Given the description of an element on the screen output the (x, y) to click on. 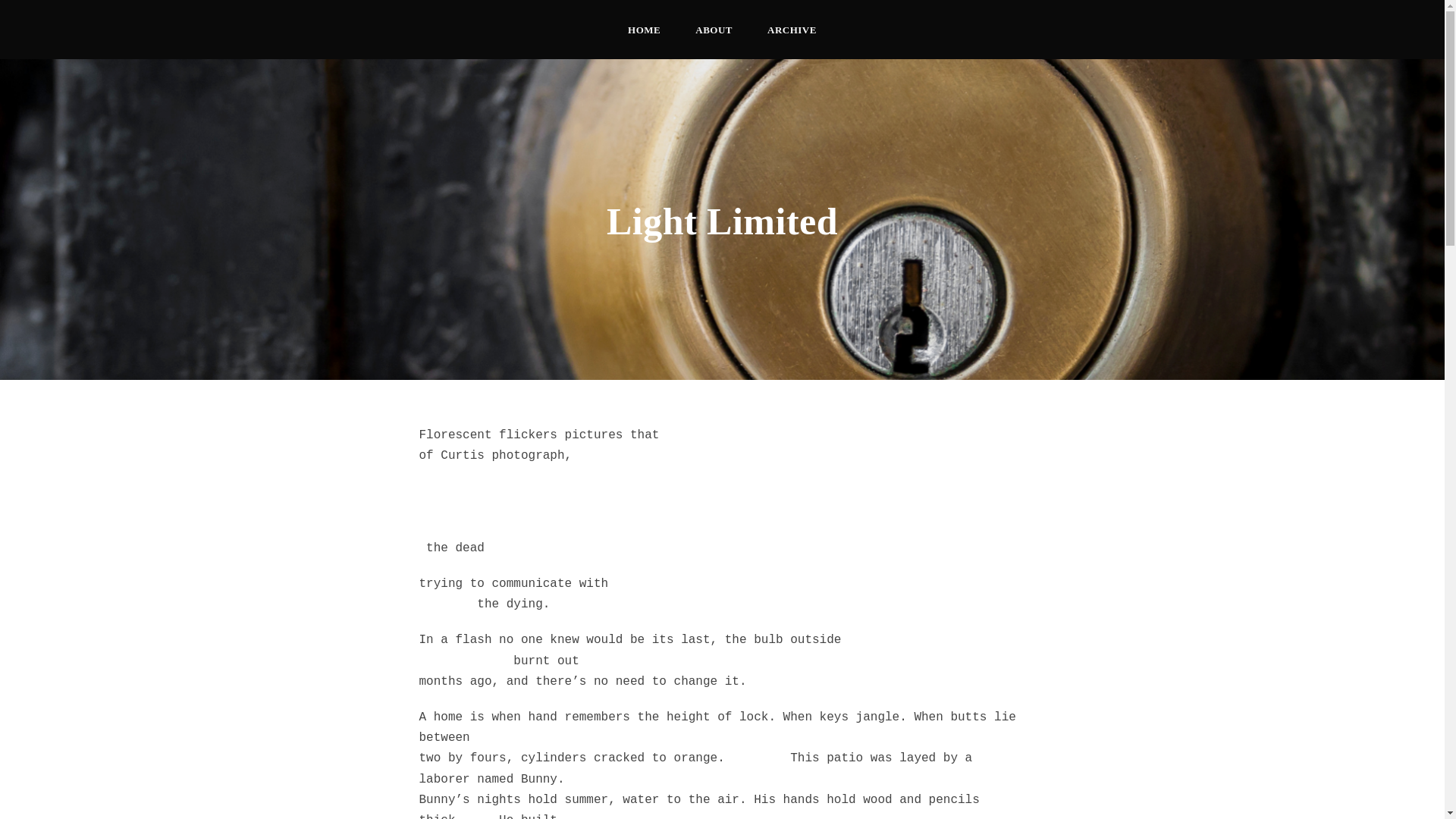
Mixed Genre (727, 552)
ABOUT (713, 40)
Art In Conversation (526, 560)
Archive 2020 (708, 456)
A Song To Remember (719, 637)
Home (881, 456)
Out of Storms Into Stars (530, 506)
2021 Editors Chapbooks (526, 613)
Remembering What We Carry (734, 506)
HOME (644, 40)
META-JUNK (719, 591)
2021 (477, 456)
ARCHIVE (791, 40)
About (885, 495)
